Given the description of an element on the screen output the (x, y) to click on. 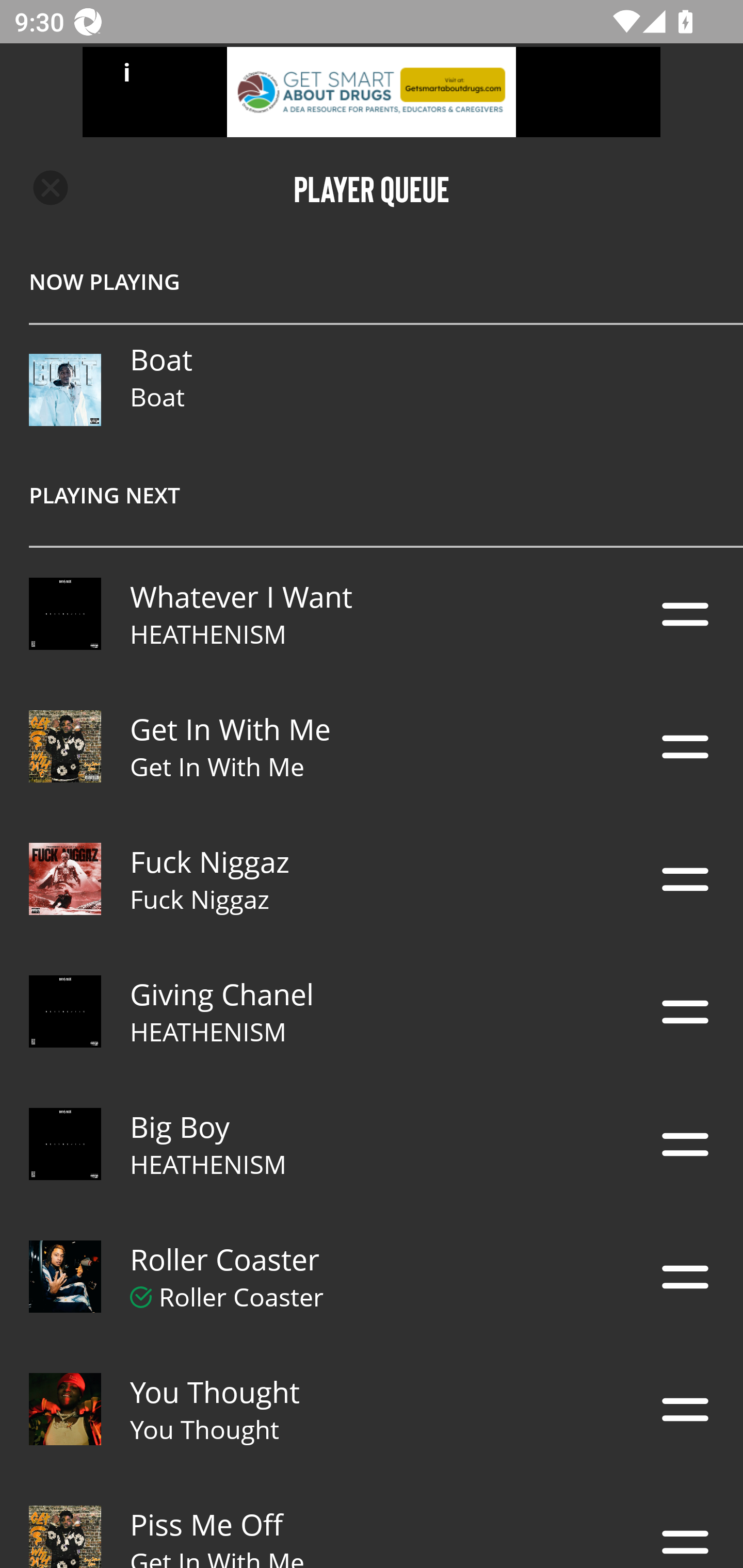
Navigate up (50, 187)
NOW PLAYING Description Boat Boat PLAYING NEXT (371, 392)
Description Whatever I Want HEATHENISM Description (371, 613)
Description Fuck Niggaz Fuck Niggaz Description (371, 878)
Description Giving Chanel HEATHENISM Description (371, 1011)
Description Big Boy HEATHENISM Description (371, 1144)
Description You Thought You Thought Description (371, 1409)
Description Piss Me Off Get In With Me Description (371, 1521)
